Given the description of an element on the screen output the (x, y) to click on. 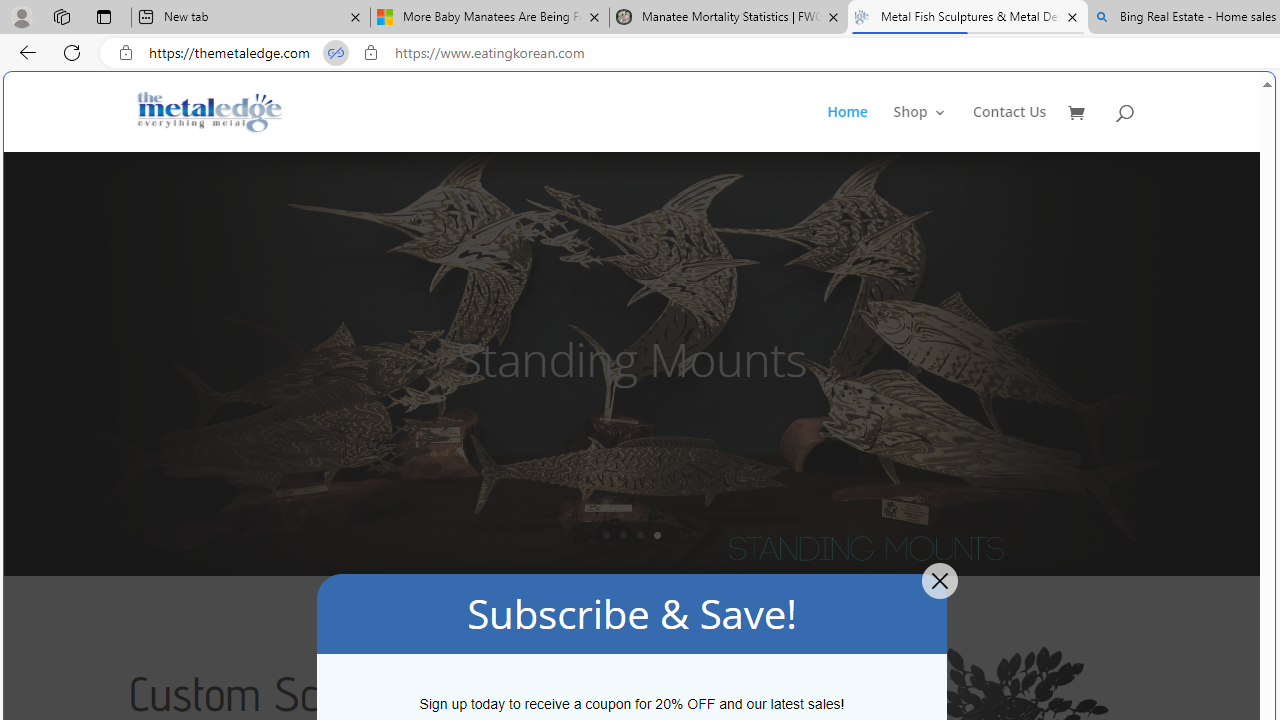
Tabs in split screen (335, 53)
Contact Us (1009, 128)
2 (623, 535)
4 (657, 535)
Metal Fish Sculptures & Metal Designs (210, 111)
Manatee Mortality Statistics | FWC (729, 17)
